Given the description of an element on the screen output the (x, y) to click on. 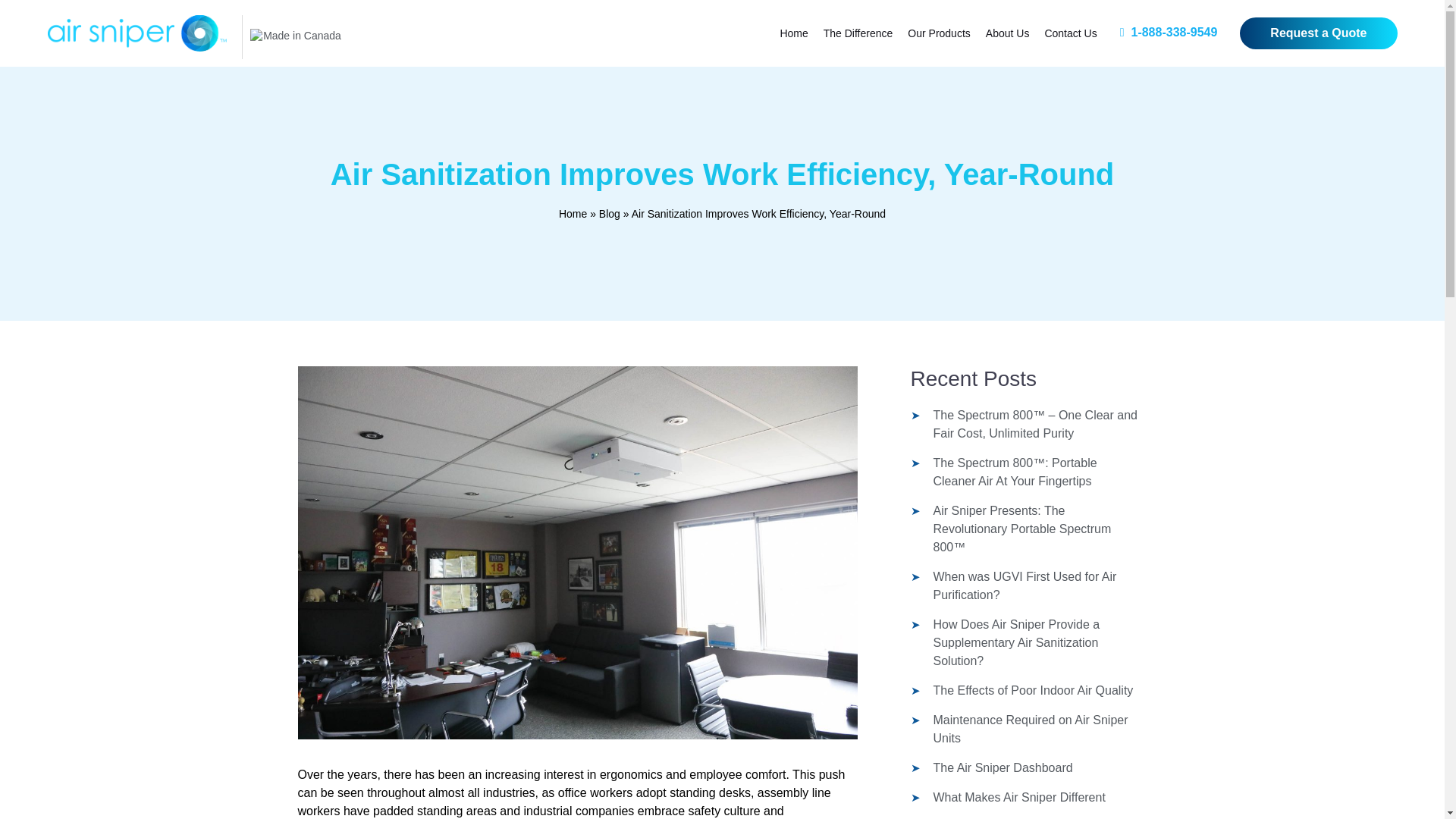
Request a Quote (1318, 33)
1-888-338-9549 (1168, 32)
Our Products (937, 32)
About Us (1007, 32)
Home (793, 32)
Contact Us (1069, 32)
The Difference (858, 32)
